Given the description of an element on the screen output the (x, y) to click on. 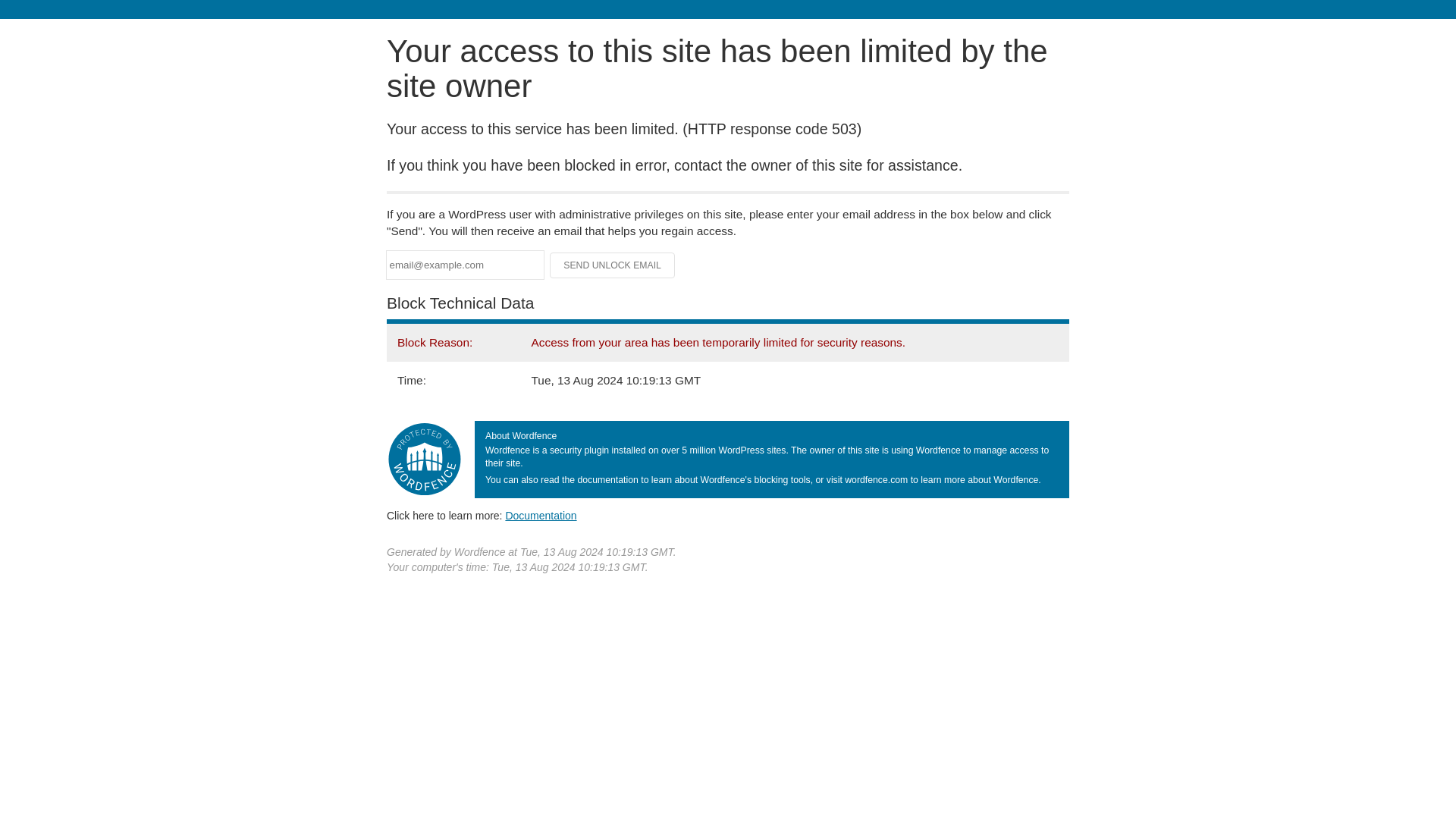
Send Unlock Email (612, 265)
Send Unlock Email (612, 265)
Documentation (540, 515)
